Given the description of an element on the screen output the (x, y) to click on. 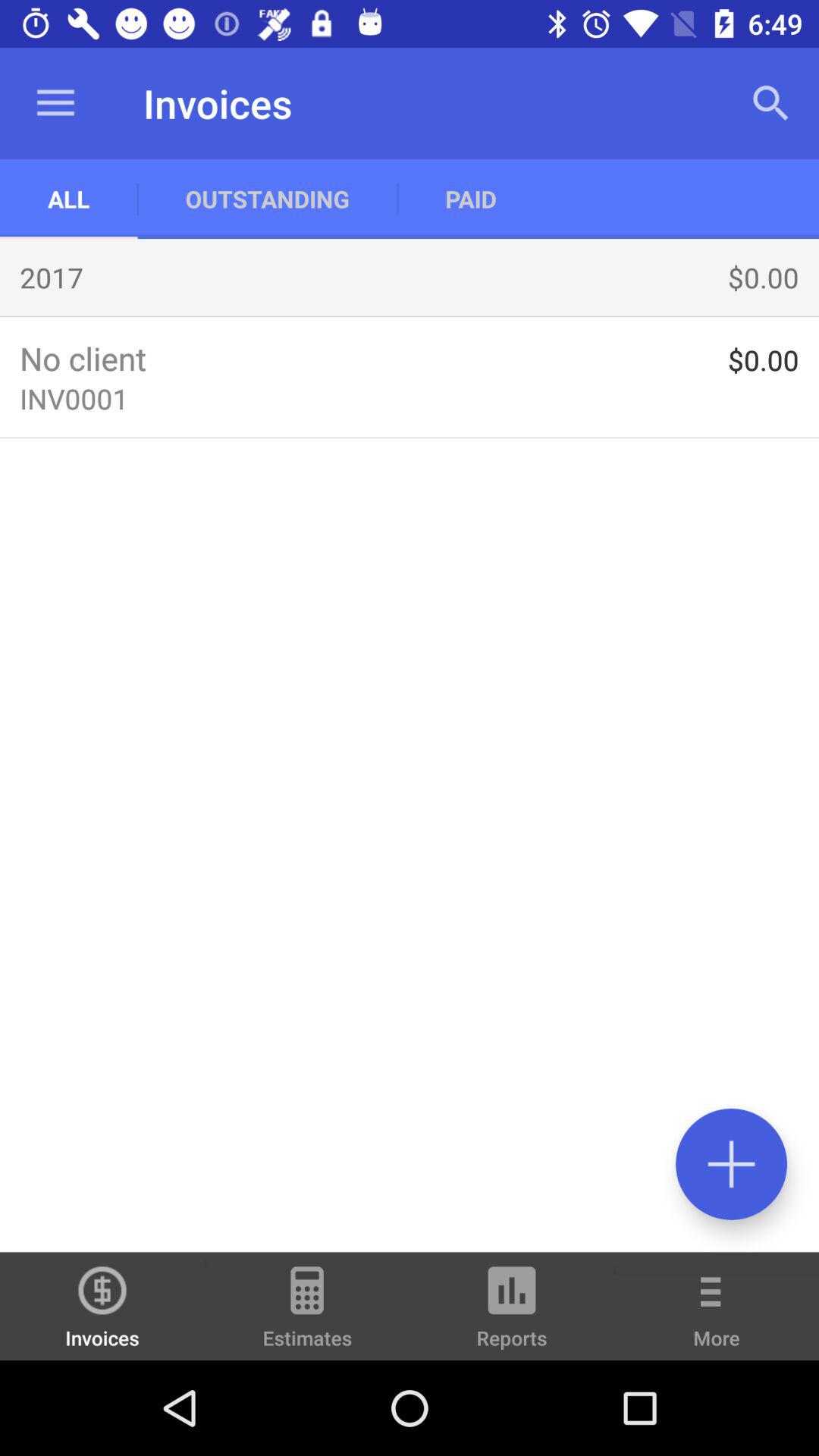
turn on app to the left of paid item (267, 198)
